Given the description of an element on the screen output the (x, y) to click on. 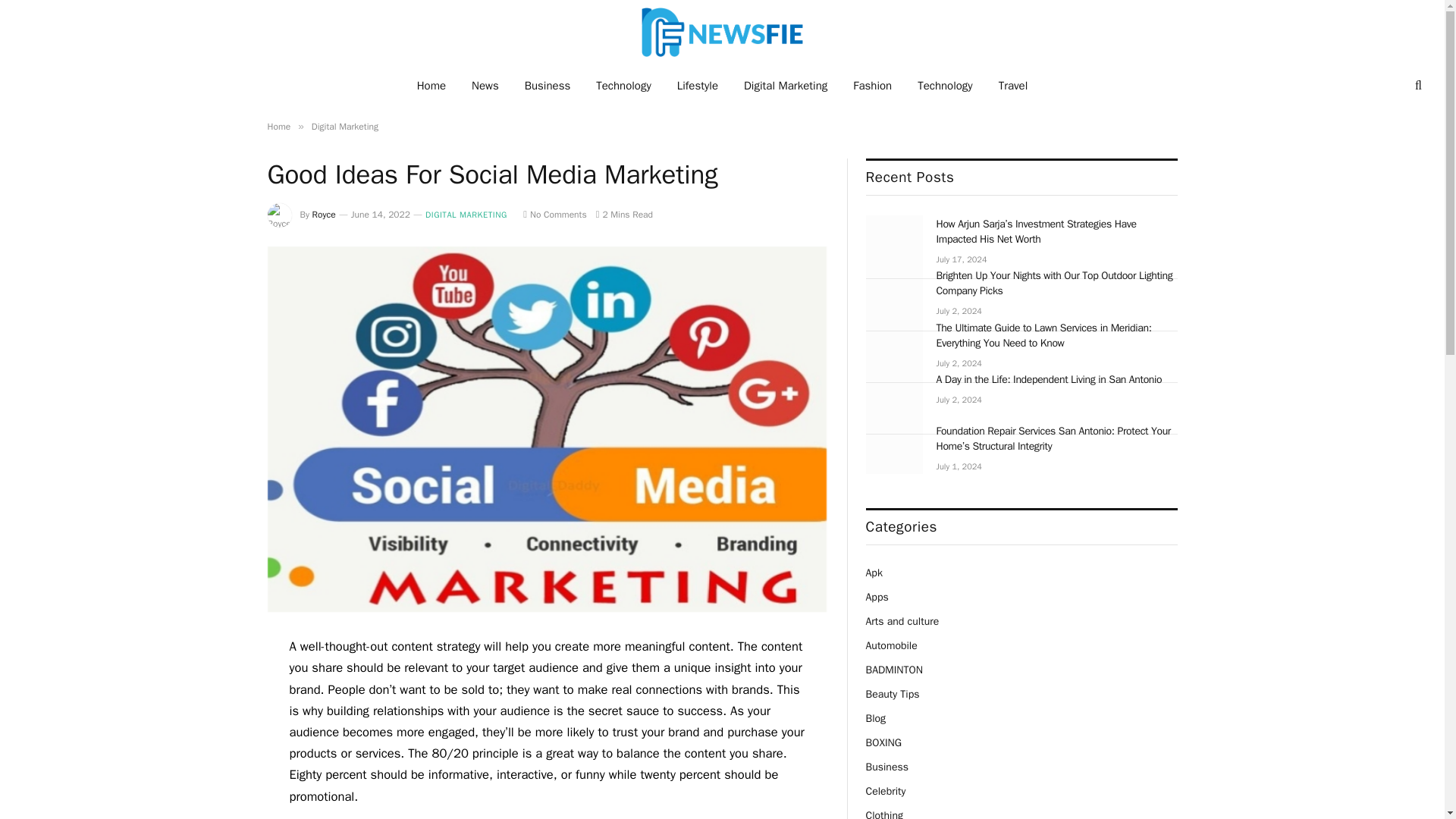
Posts by Royce (324, 214)
